Given the description of an element on the screen output the (x, y) to click on. 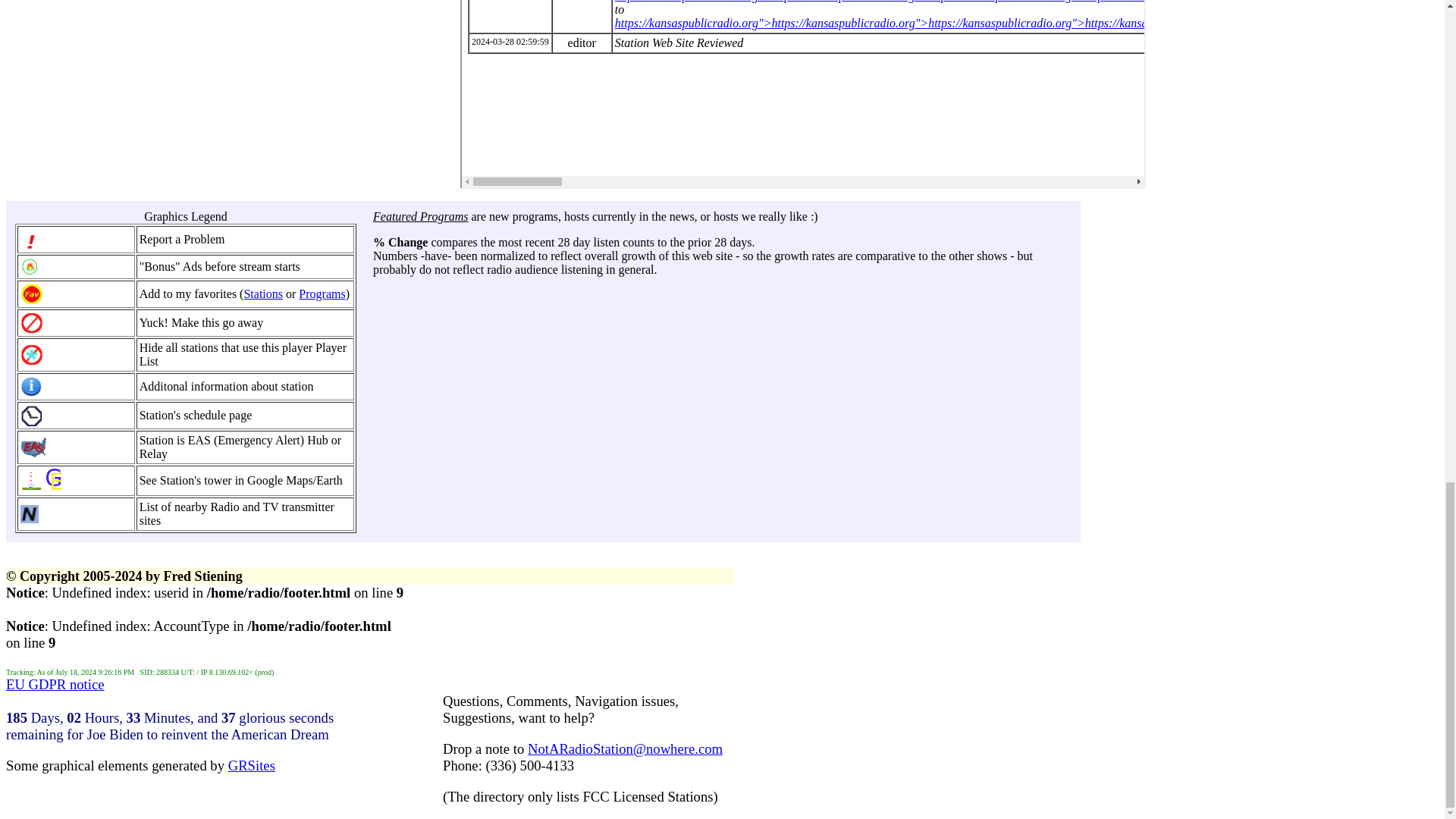
GRSites (251, 765)
Programs (321, 293)
Player List (242, 354)
Stations (262, 293)
EU GDPR notice (54, 684)
